Given the description of an element on the screen output the (x, y) to click on. 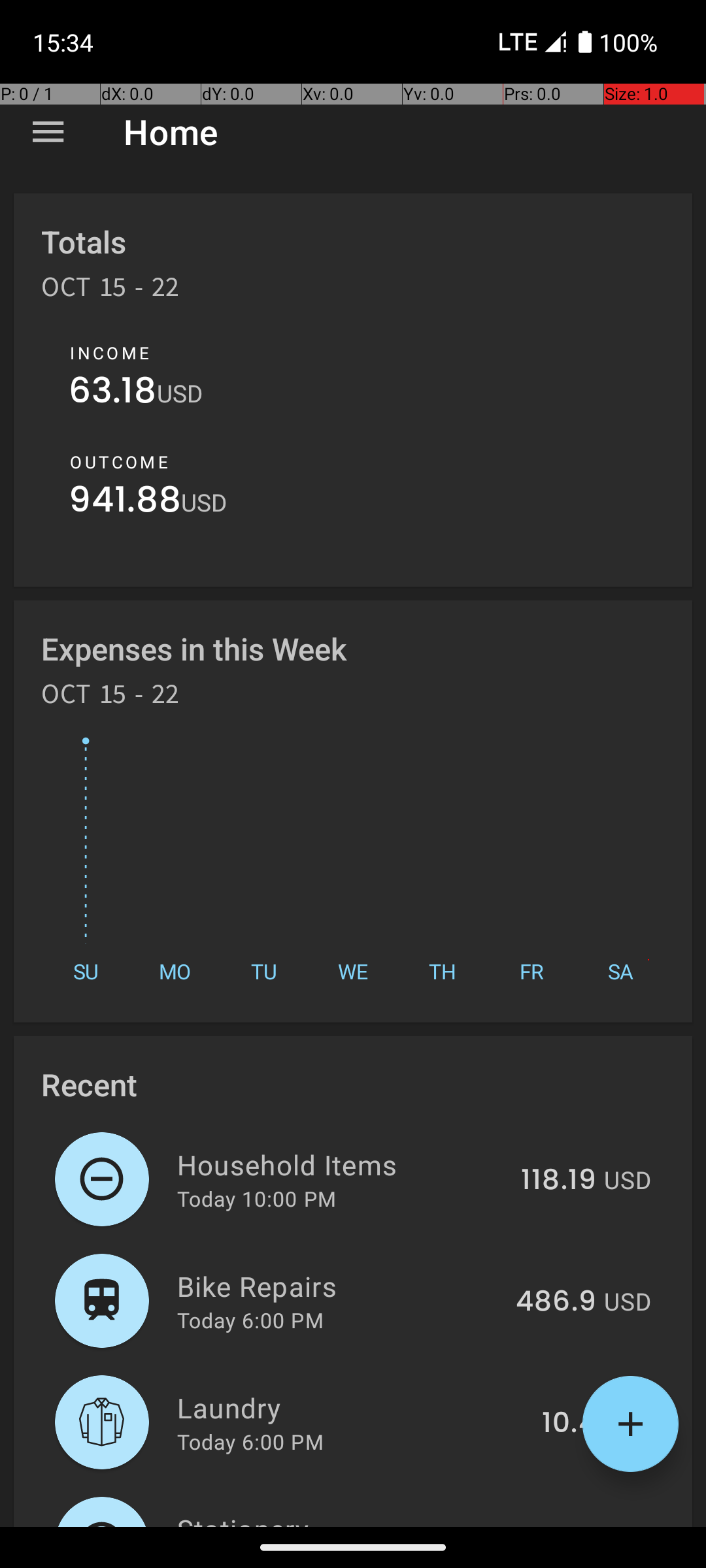
63.18 Element type: android.widget.TextView (112, 393)
941.88 Element type: android.widget.TextView (124, 502)
Household Items Element type: android.widget.TextView (341, 1164)
118.19 Element type: android.widget.TextView (558, 1180)
Bike Repairs Element type: android.widget.TextView (338, 1285)
486.9 Element type: android.widget.TextView (555, 1301)
10.4 Element type: android.widget.TextView (568, 1423)
Stationery Element type: android.widget.TextView (331, 1518)
326.39 Element type: android.widget.TextView (548, 1524)
